Given the description of an element on the screen output the (x, y) to click on. 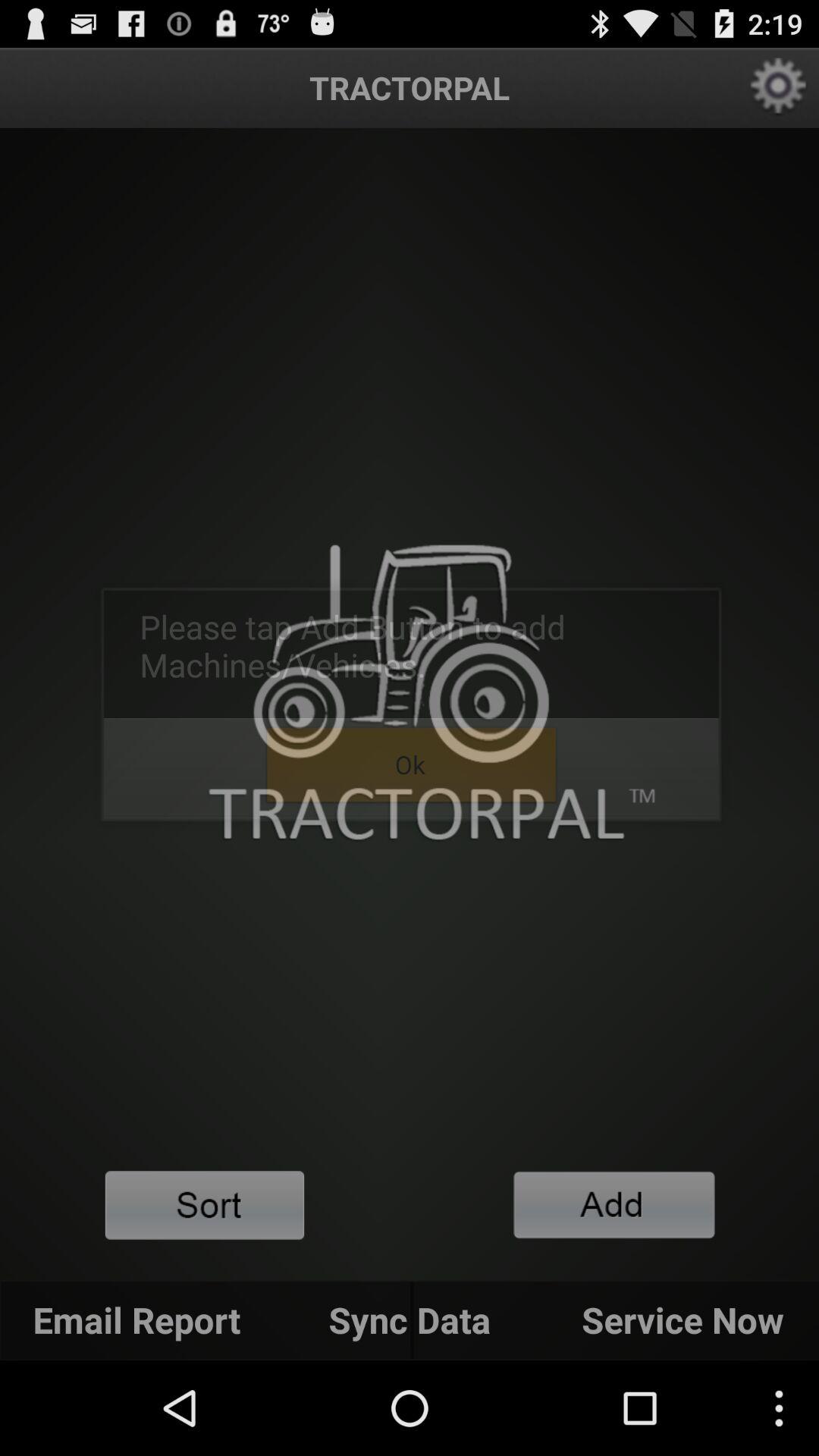
add the option using knowledge (613, 1204)
